Given the description of an element on the screen output the (x, y) to click on. 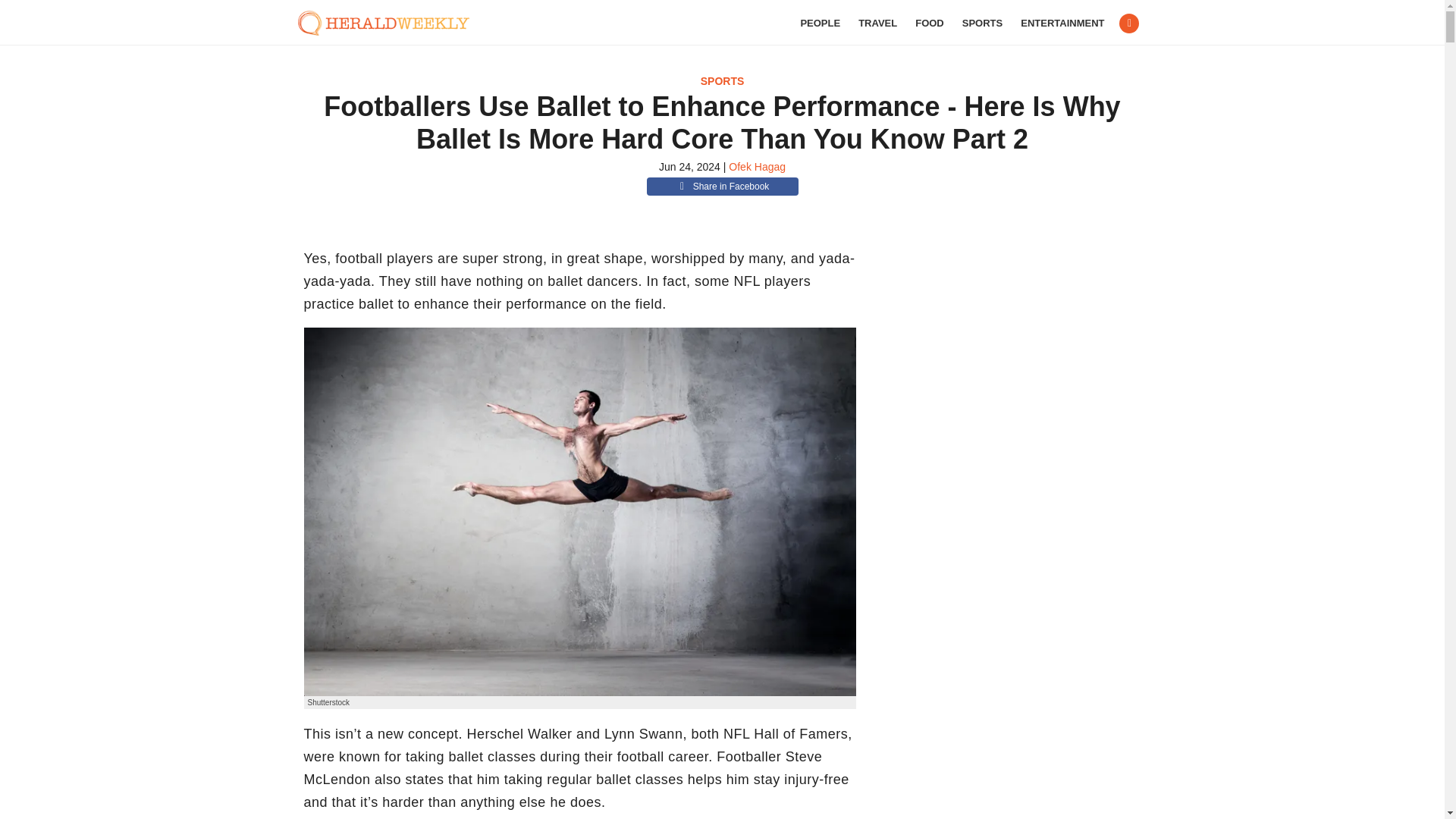
Facebook (1128, 23)
PEOPLE (819, 23)
ENTERTAINMENT (1061, 23)
Herald Weekly (391, 22)
SPORTS (982, 23)
TRAVEL (877, 23)
Share in Facebook (721, 186)
Ofek Hagag (757, 166)
SPORTS (722, 80)
